Given the description of an element on the screen output the (x, y) to click on. 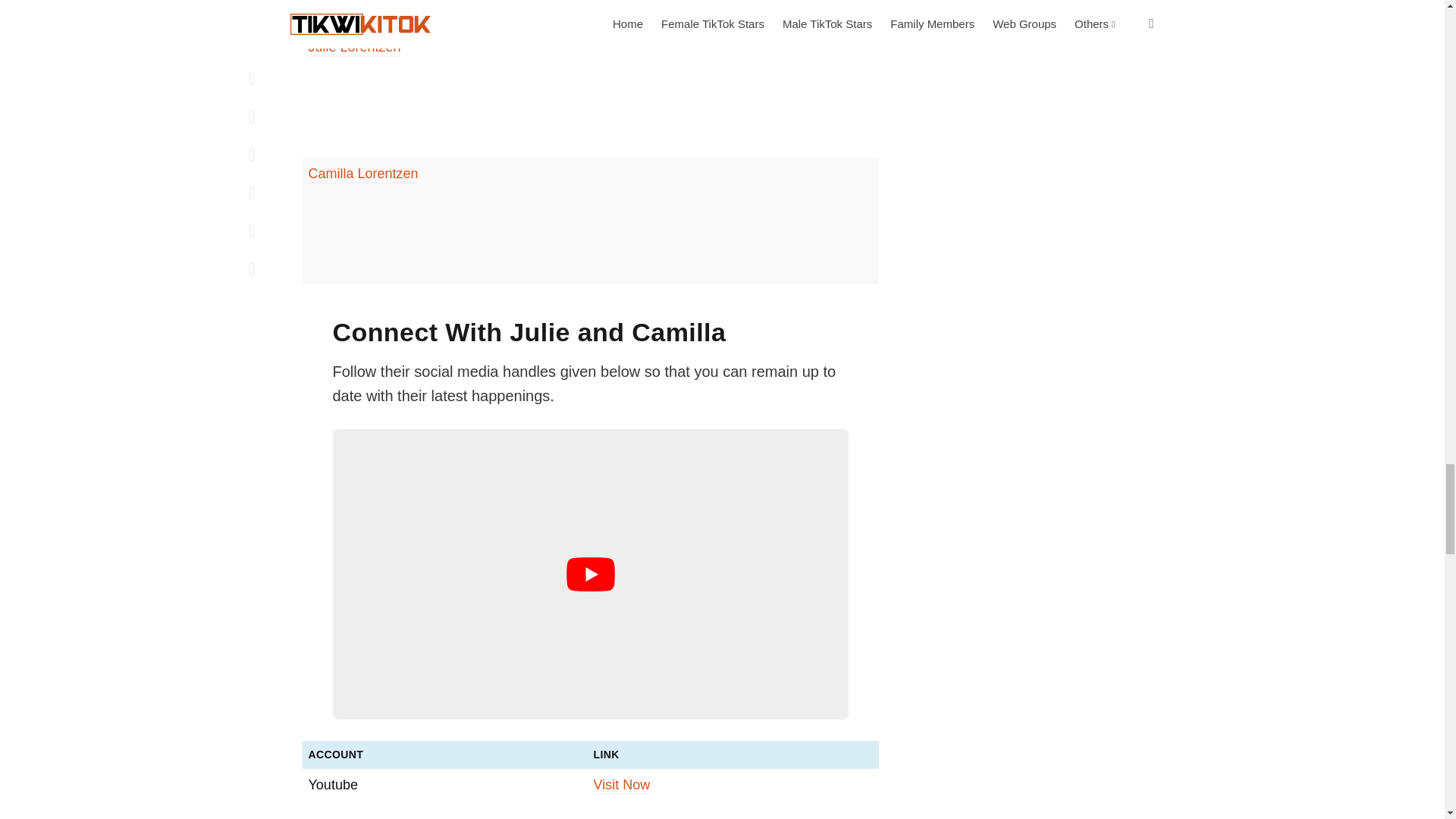
Camilla Lorentzen (362, 174)
Visit Now (620, 785)
Julie Lorentzen (353, 47)
